Given the description of an element on the screen output the (x, y) to click on. 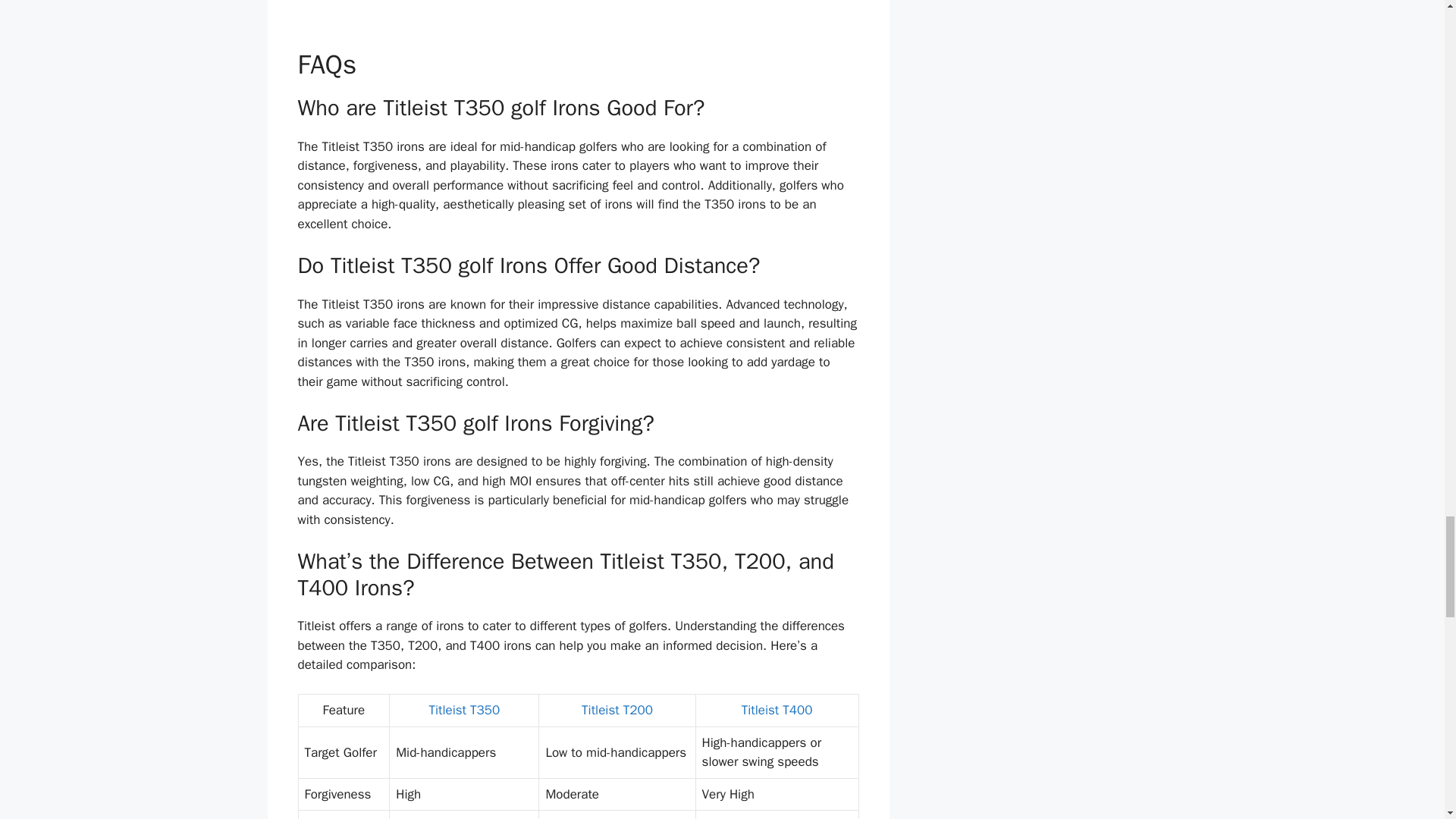
Titleist T350 (463, 709)
Titleist T200 (616, 709)
Titleist T400 (776, 709)
